Given the description of an element on the screen output the (x, y) to click on. 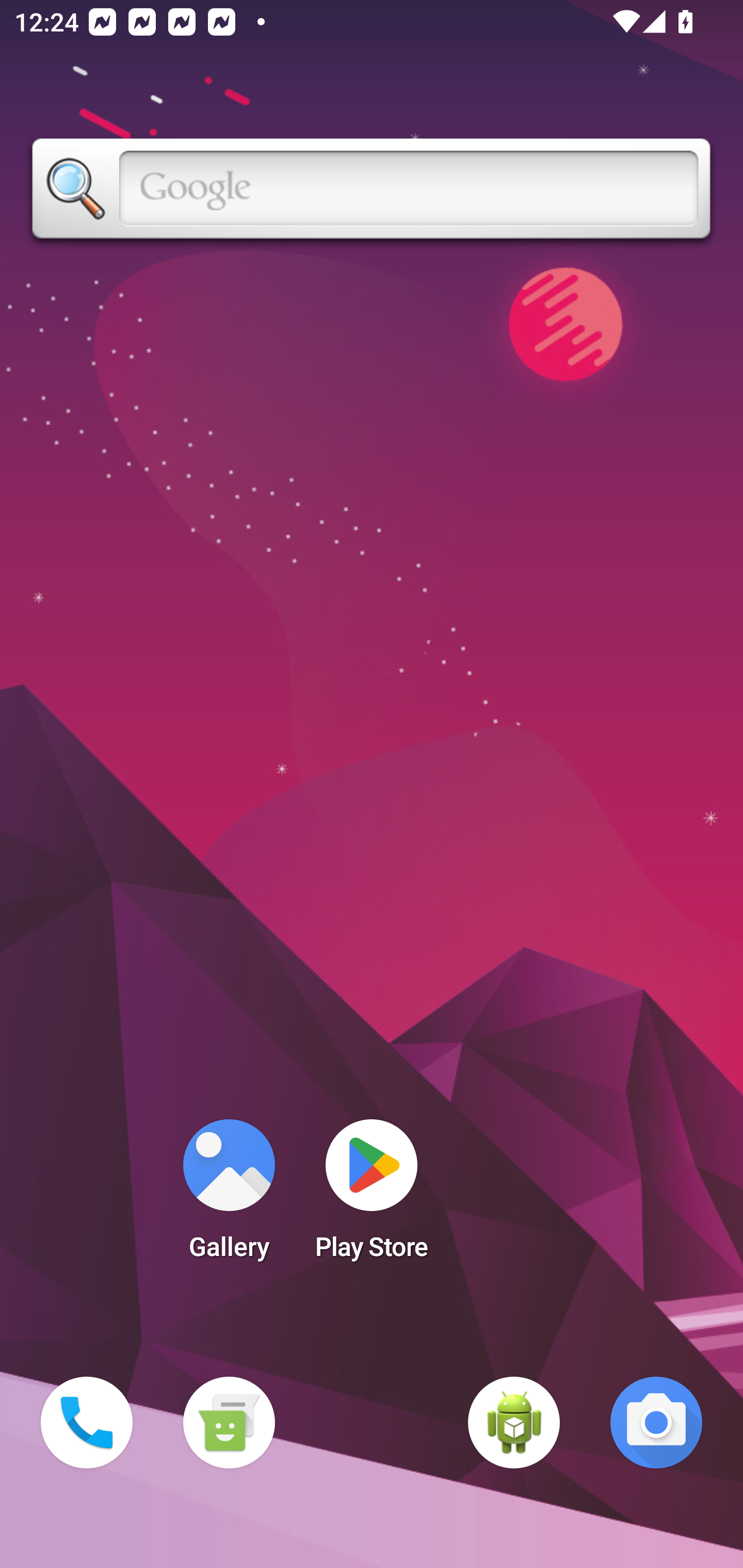
Gallery (228, 1195)
Play Store (371, 1195)
Phone (86, 1422)
Messaging (228, 1422)
WebView Browser Tester (513, 1422)
Camera (656, 1422)
